Given the description of an element on the screen output the (x, y) to click on. 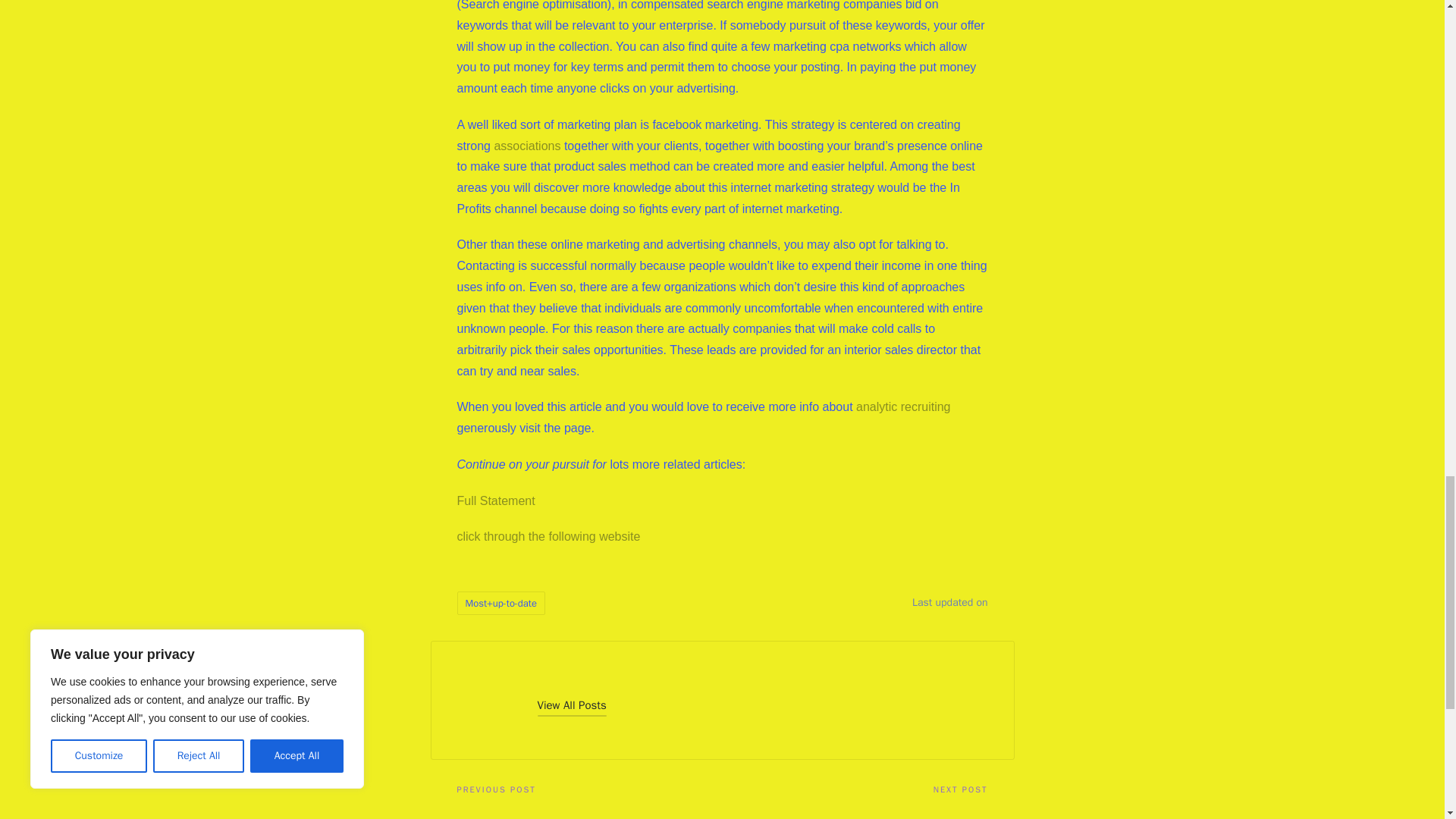
Utilizing Signature Loans To Boost Your Credit Score Ratings (854, 814)
associations (526, 145)
analytic recruiting (903, 406)
The Health-related Great Things About Cannabis (589, 814)
View All Posts (571, 705)
click through the following website (548, 535)
Full Statement (495, 500)
